Given the description of an element on the screen output the (x, y) to click on. 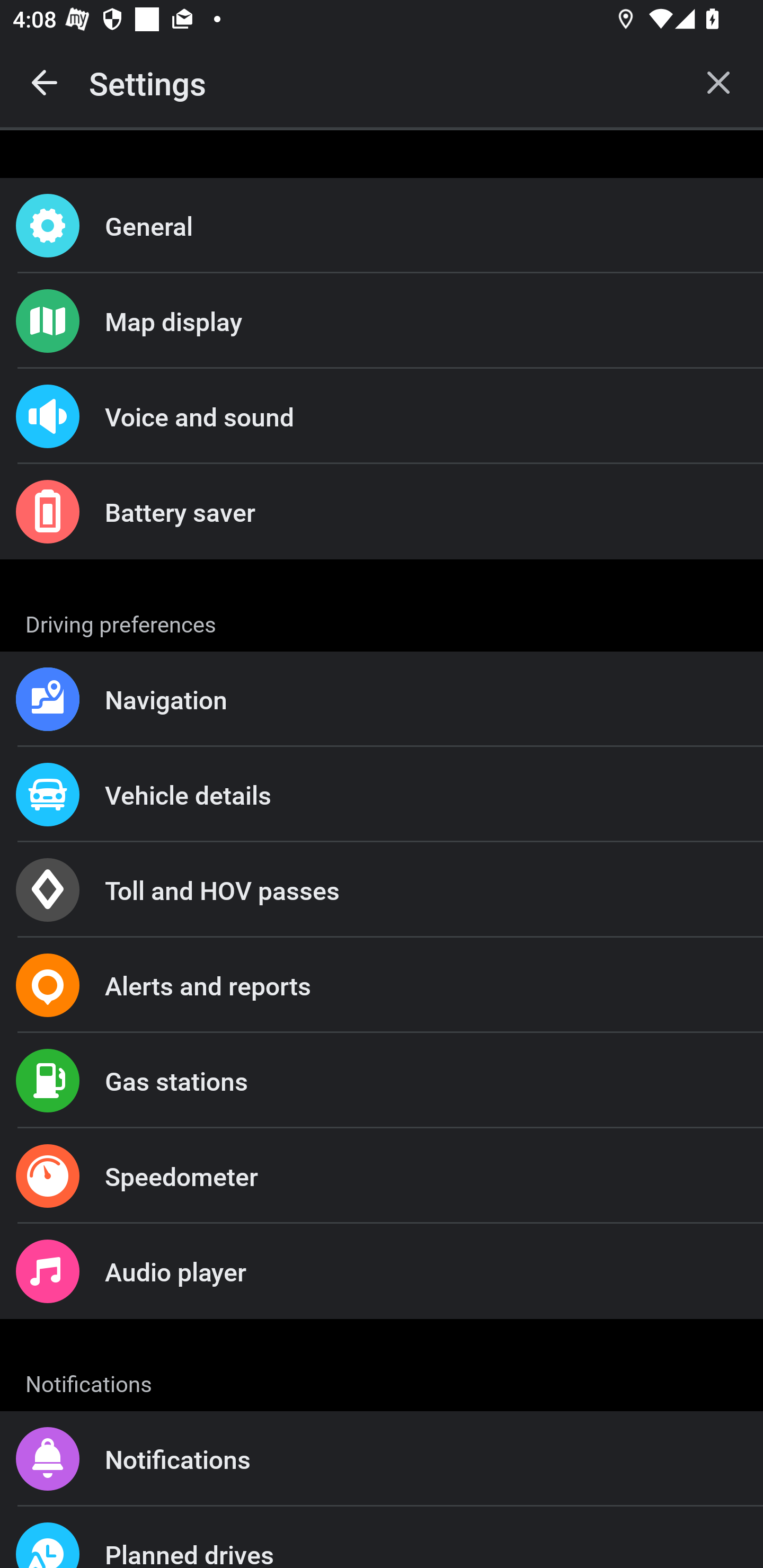
General (381, 225)
Map display (381, 320)
Voice and sound (381, 416)
Battery saver (381, 511)
ACTION_CELL_ICON Settings ACTION_CELL_TEXT (381, 620)
Navigation (381, 699)
Vehicle details (381, 794)
ACTION_CELL_ICON Shut off ACTION_CELL_TEXT (381, 891)
Alerts and reports (381, 985)
Gas stations (381, 1080)
Speedometer (381, 1175)
Audio player (381, 1270)
East Village New York, NY (381, 1459)
